Given the description of an element on the screen output the (x, y) to click on. 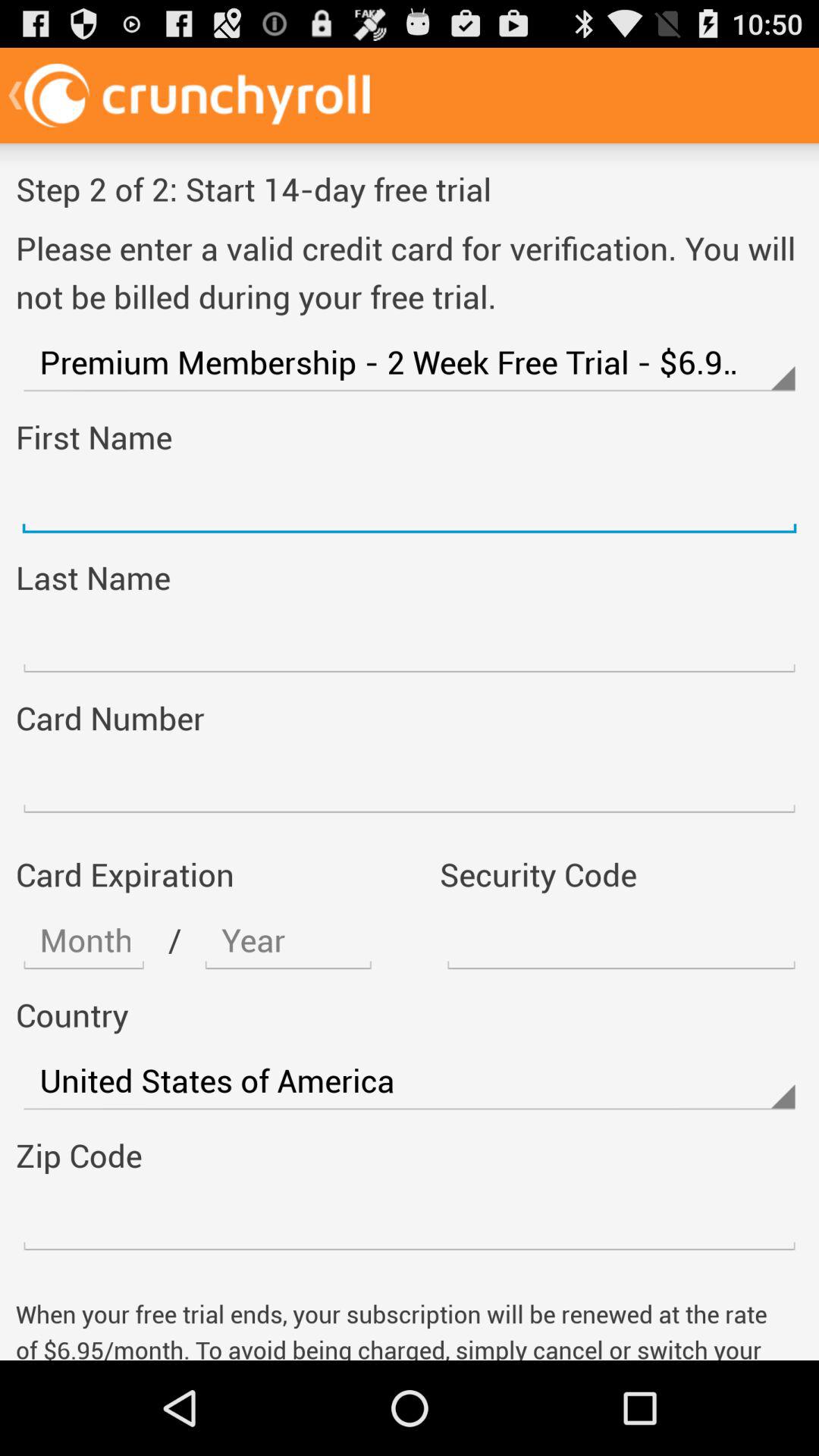
address page (409, 1221)
